Given the description of an element on the screen output the (x, y) to click on. 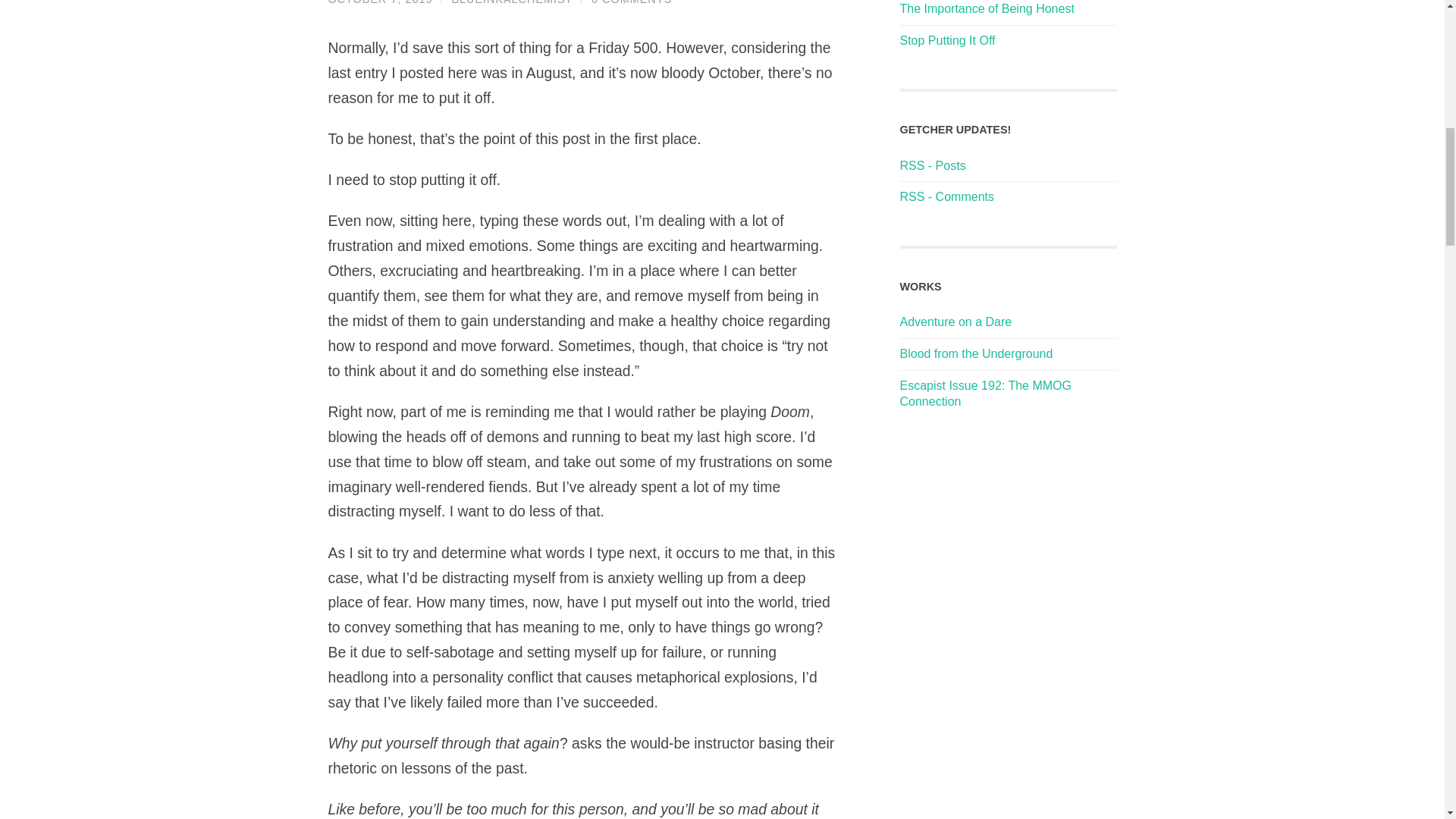
0 COMMENTS (631, 2)
BLUEINKALCHEMIST (511, 2)
Subscribe to Posts (932, 164)
Subscribe to Comments (945, 196)
OCTOBER 7, 2019 (379, 2)
Stop Putting It Off (379, 2)
Posts by BlueInkAlchemist (511, 2)
